Given the description of an element on the screen output the (x, y) to click on. 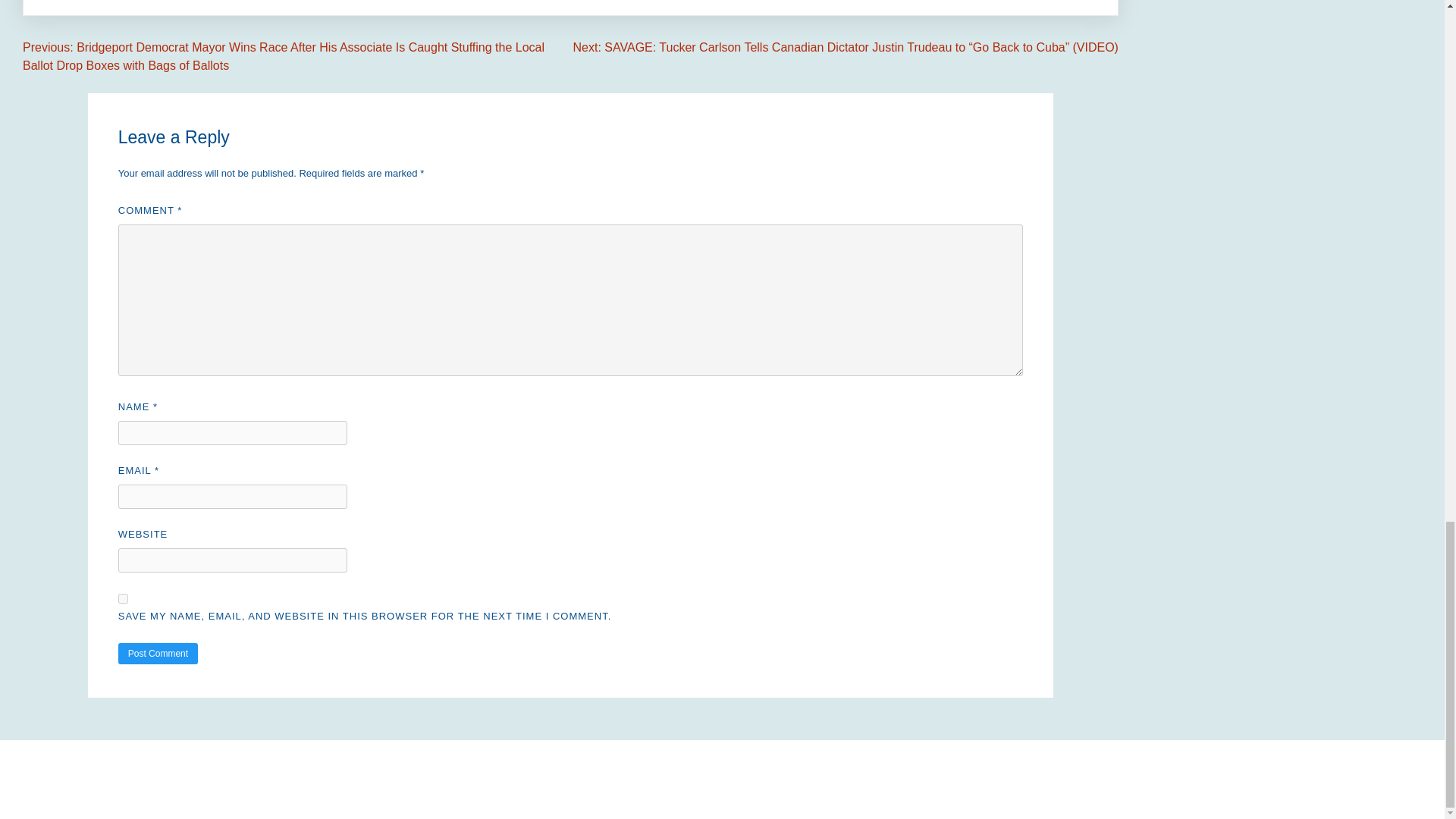
yes (122, 598)
Post Comment (157, 653)
Post Comment (157, 653)
